Given the description of an element on the screen output the (x, y) to click on. 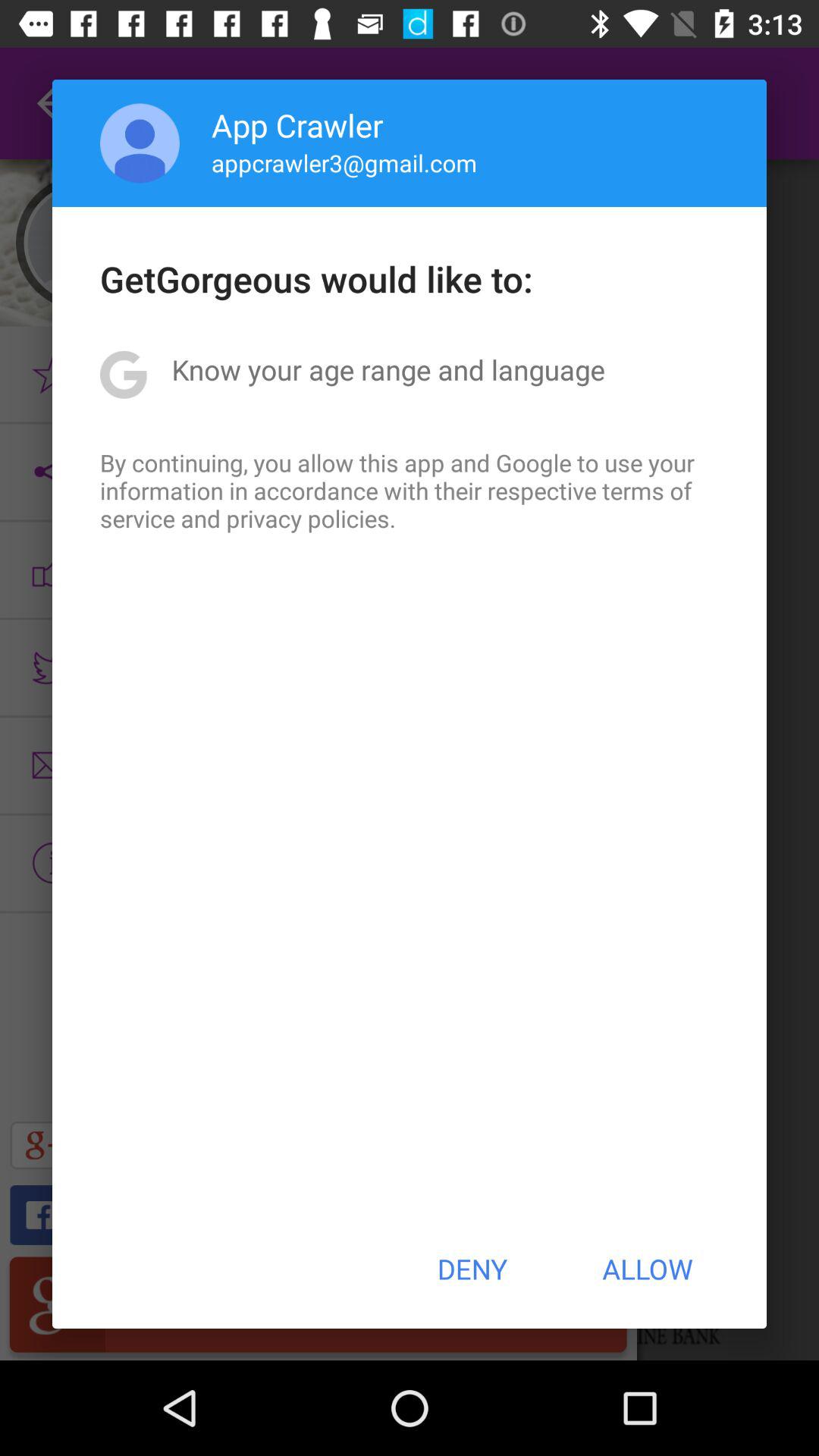
turn off the app below the by continuing you item (471, 1268)
